Given the description of an element on the screen output the (x, y) to click on. 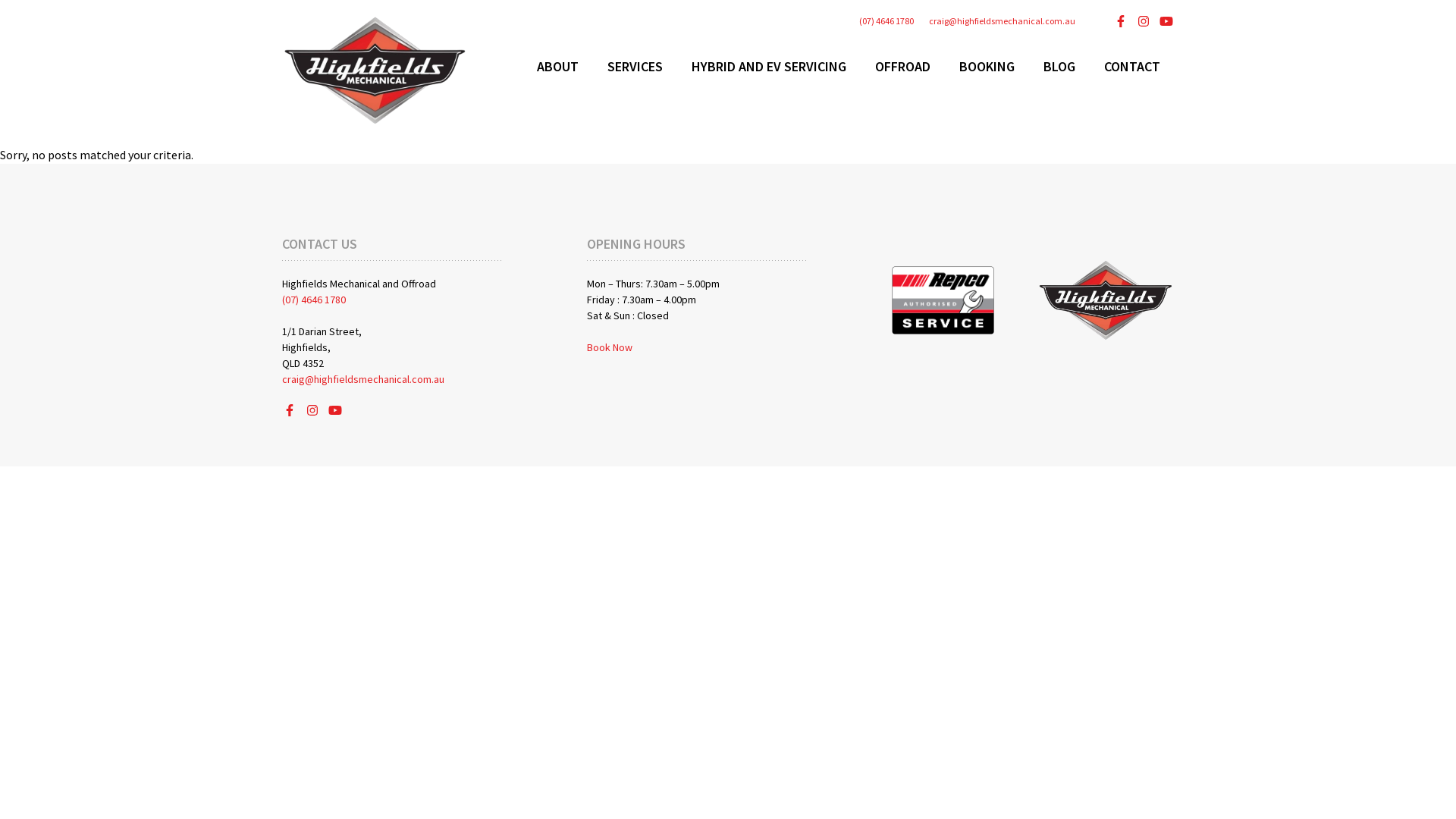
HYBRID AND EV SERVICING Element type: text (768, 66)
craig@highfieldsmechanical.com.au Element type: text (1001, 21)
OFFROAD Element type: text (902, 66)
BLOG Element type: text (1058, 66)
View Highfields Mechanical's Instagram Page Element type: hover (1143, 21)
View Highfields Mechanical's Facebook Page Element type: hover (1120, 21)
ABOUT Element type: text (557, 66)
(07) 4646 1780 Element type: text (313, 299)
View Highfields Mechanical's Facebook Page Element type: hover (289, 410)
Book Now Element type: text (609, 347)
View Highfields Mechanical's YouTube Page Element type: hover (334, 410)
(07) 4646 1780 Element type: text (886, 21)
BOOKING Element type: text (986, 66)
View Highfields Mechanical's Instagram Page Element type: hover (312, 410)
craig@highfieldsmechanical.com.au Element type: text (363, 378)
View Highfields Mechanical's YouTube Page Element type: hover (1165, 21)
SERVICES Element type: text (634, 66)
CONTACT Element type: text (1131, 66)
